Given the description of an element on the screen output the (x, y) to click on. 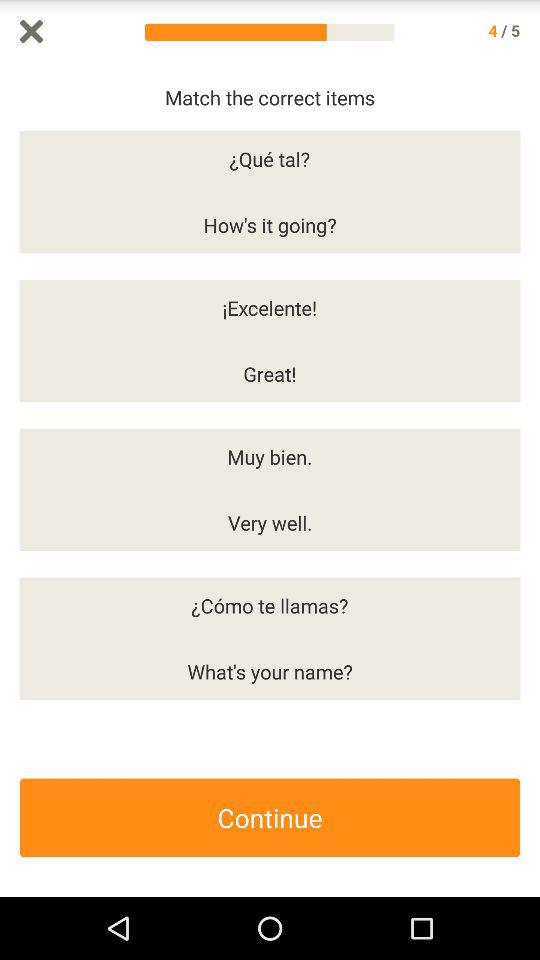
tab close option (31, 31)
